Given the description of an element on the screen output the (x, y) to click on. 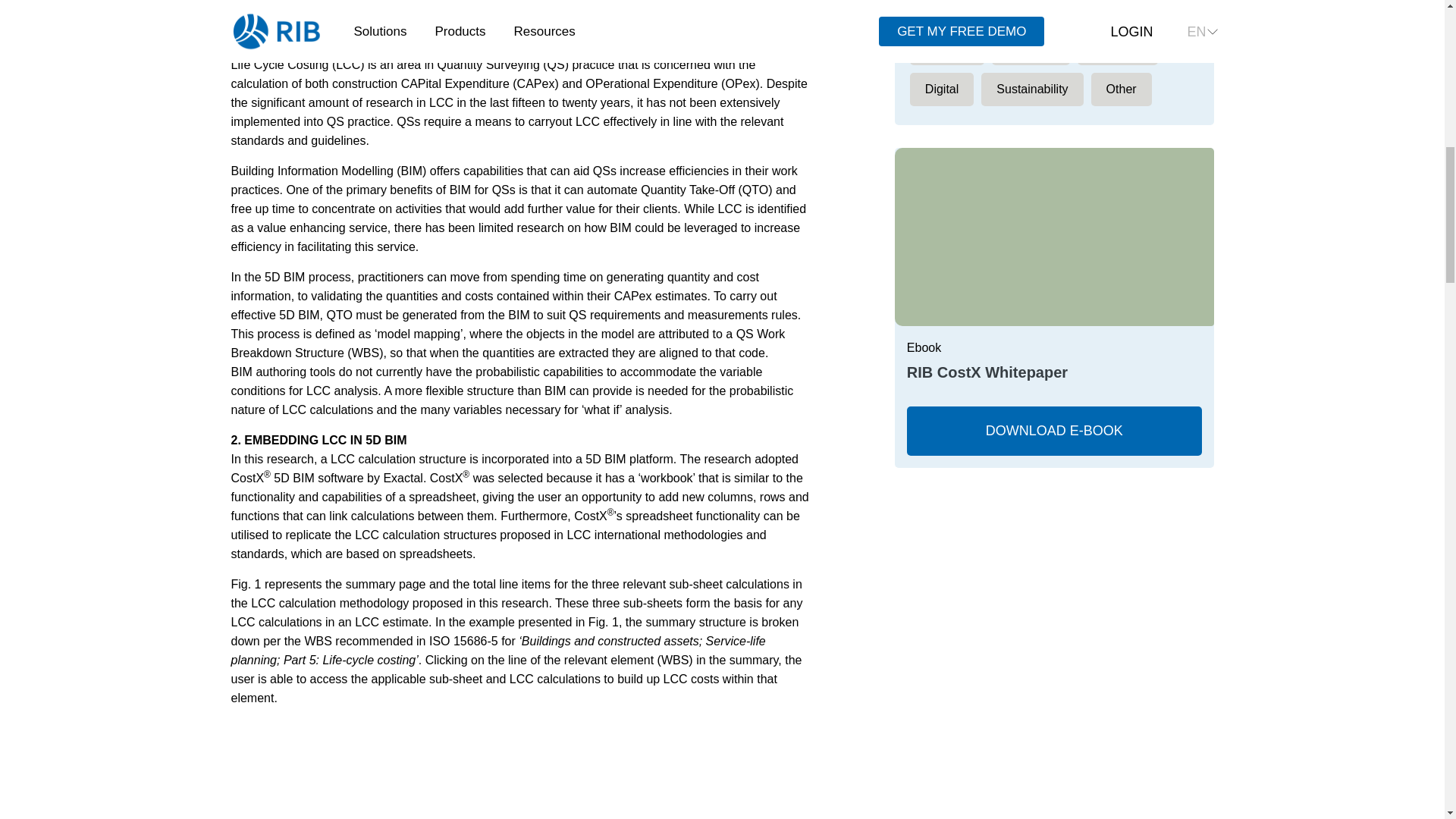
RIB CostX Whitepaper (1054, 430)
